Given the description of an element on the screen output the (x, y) to click on. 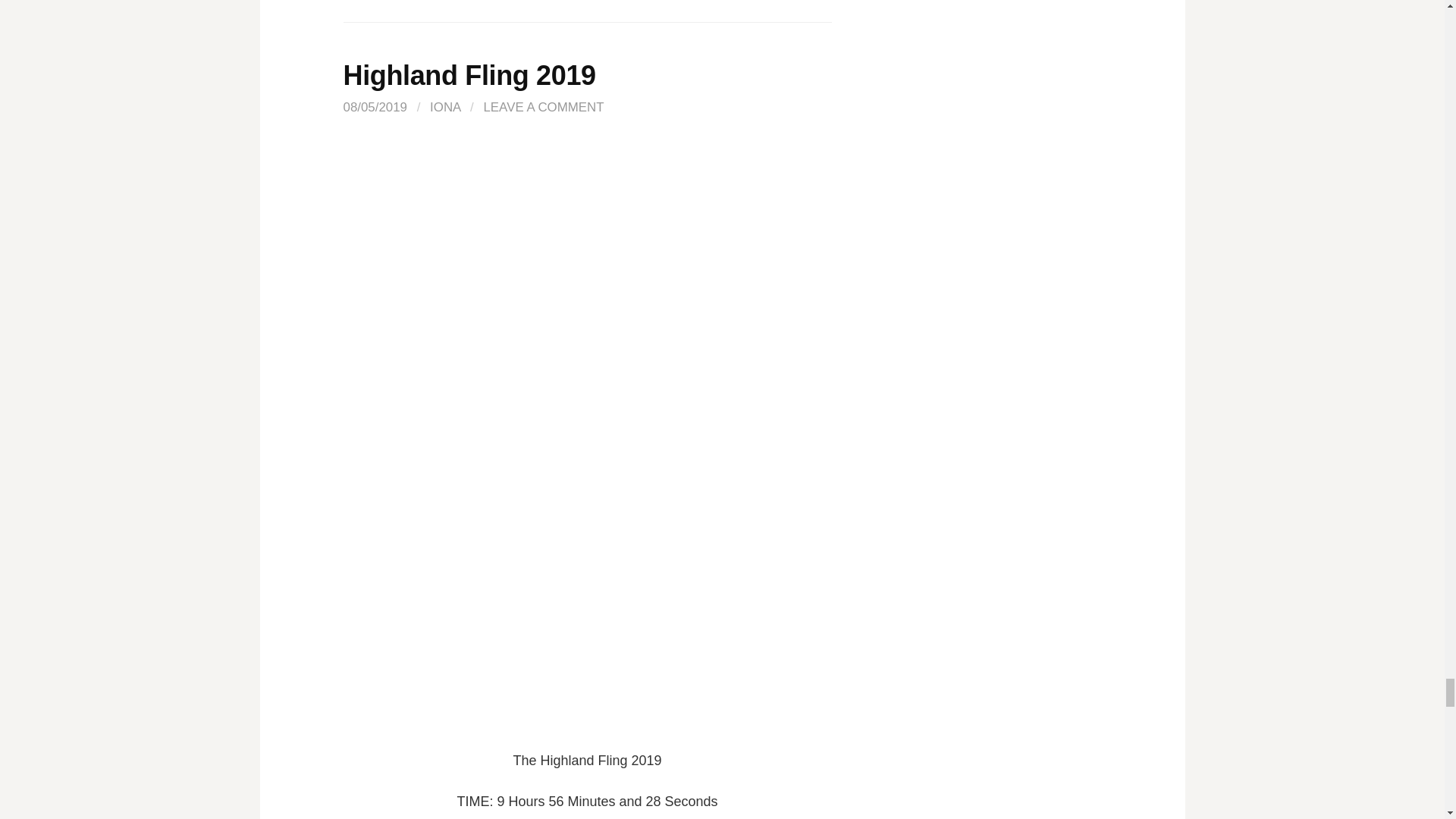
Highland Fling 2019 (468, 74)
LEAVE A COMMENT (543, 106)
IONA (444, 106)
